Given the description of an element on the screen output the (x, y) to click on. 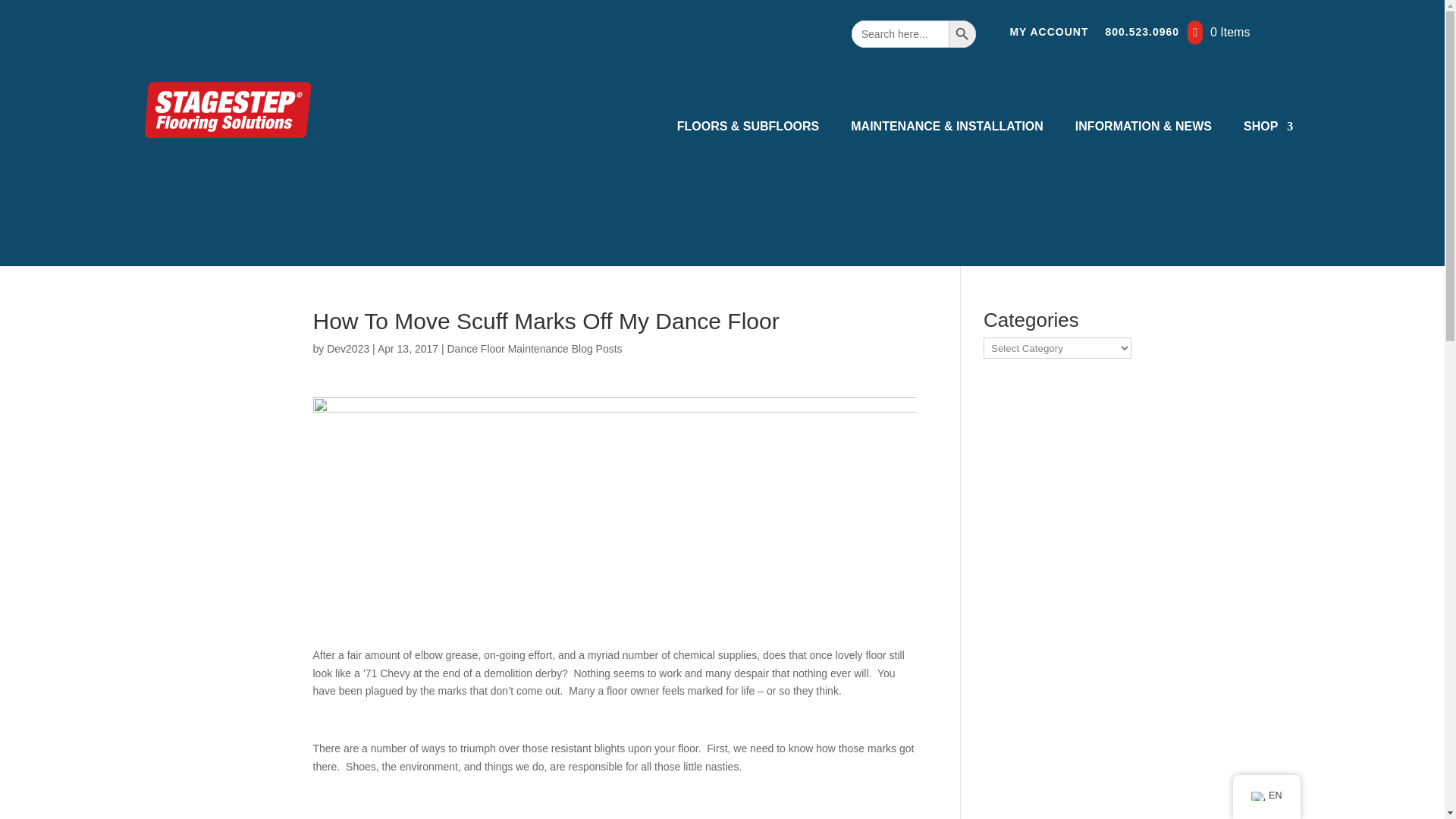
800.523.0960 (1142, 35)
English (1257, 795)
MY ACCOUNT (1048, 35)
Posts by Dev2023 (347, 348)
0 Items (1218, 32)
Search Button (962, 33)
